Given the description of an element on the screen output the (x, y) to click on. 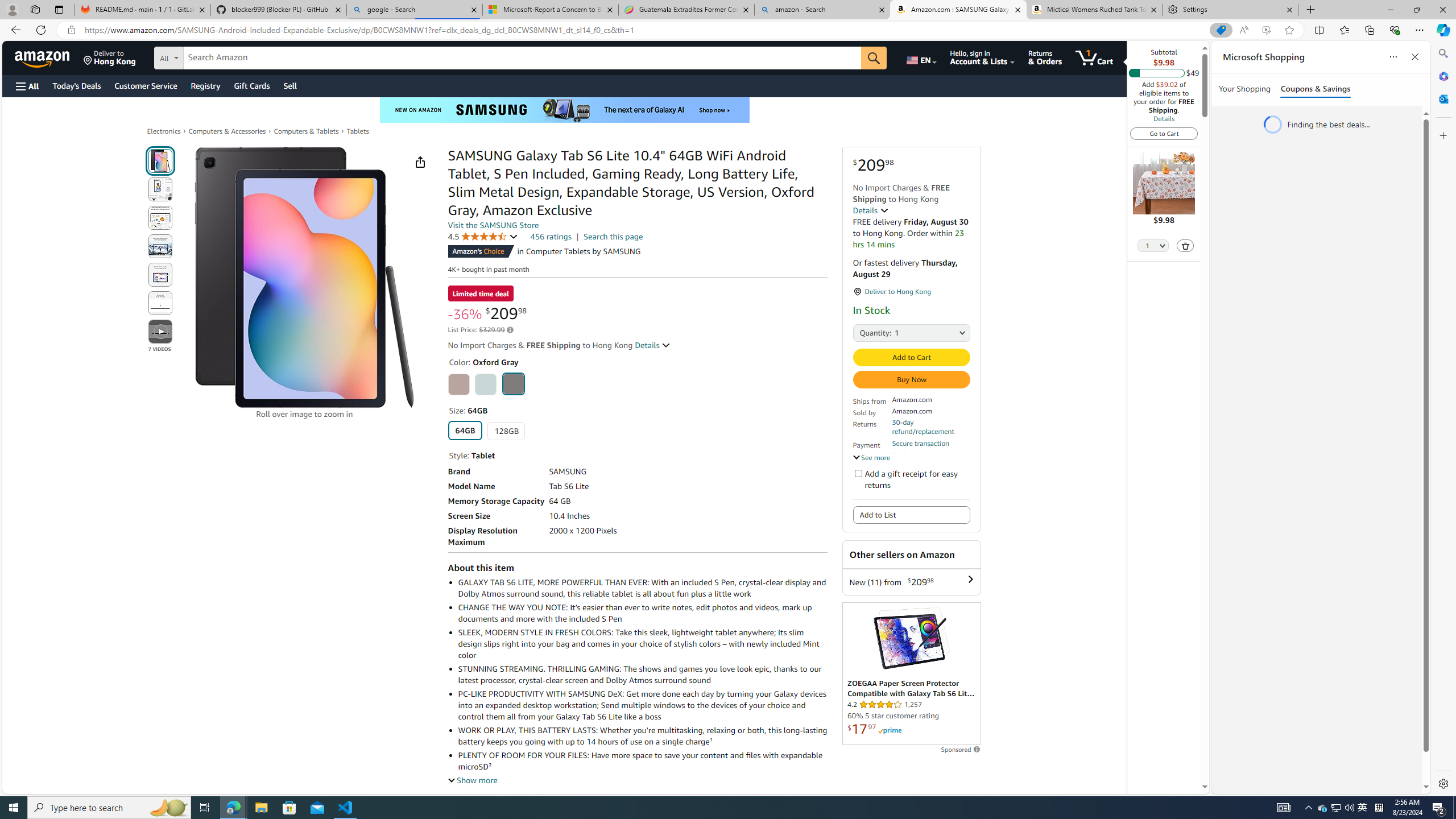
Registry (205, 85)
Details  (652, 344)
Secure transaction (920, 442)
amazon - Search (822, 9)
Go to Cart (1163, 133)
Search in (210, 58)
